Given the description of an element on the screen output the (x, y) to click on. 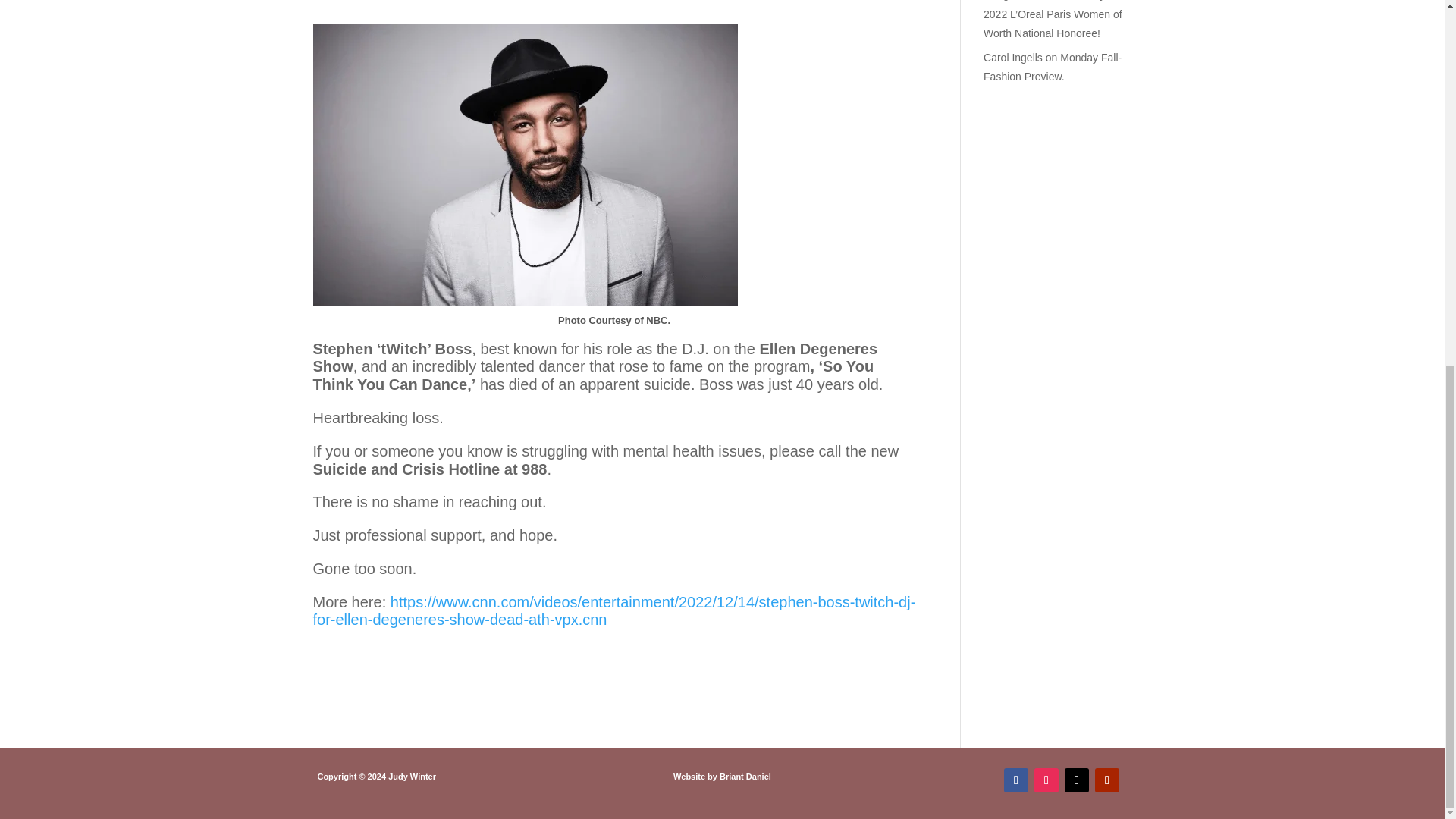
Follow on Youtube (1106, 780)
Follow on Facebook (1015, 780)
Follow on X (1076, 780)
Follow on Instagram (1045, 780)
